Given the description of an element on the screen output the (x, y) to click on. 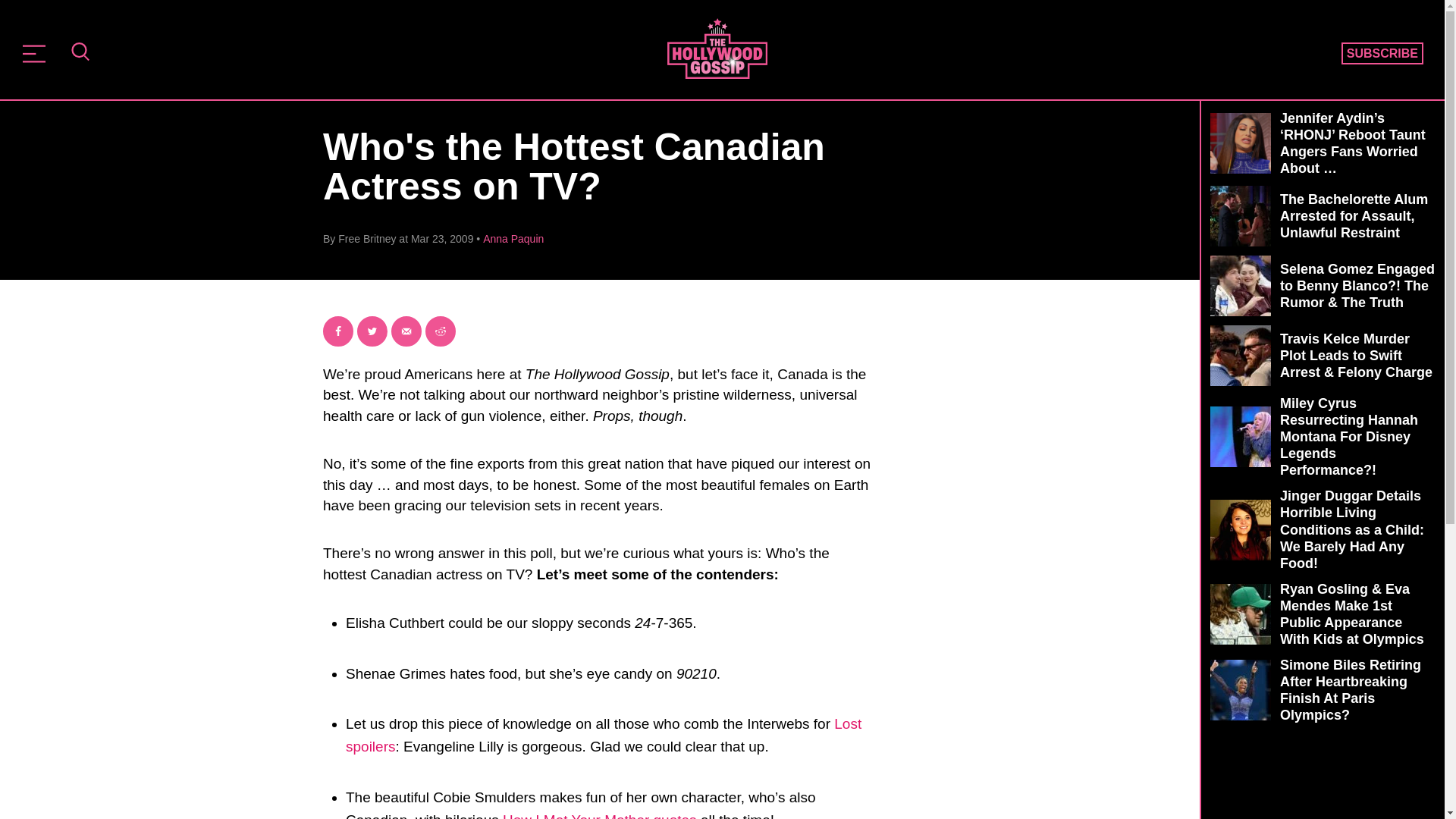
Share on Reddit (440, 331)
Share on Twitter (371, 331)
SUBSCRIBE (1381, 53)
The Hollywood Gossip (716, 48)
Free Britney (366, 238)
SEARCH (79, 53)
Send over email (406, 331)
Anna Paquin (513, 238)
Share on Facebook (338, 331)
